Given the description of an element on the screen output the (x, y) to click on. 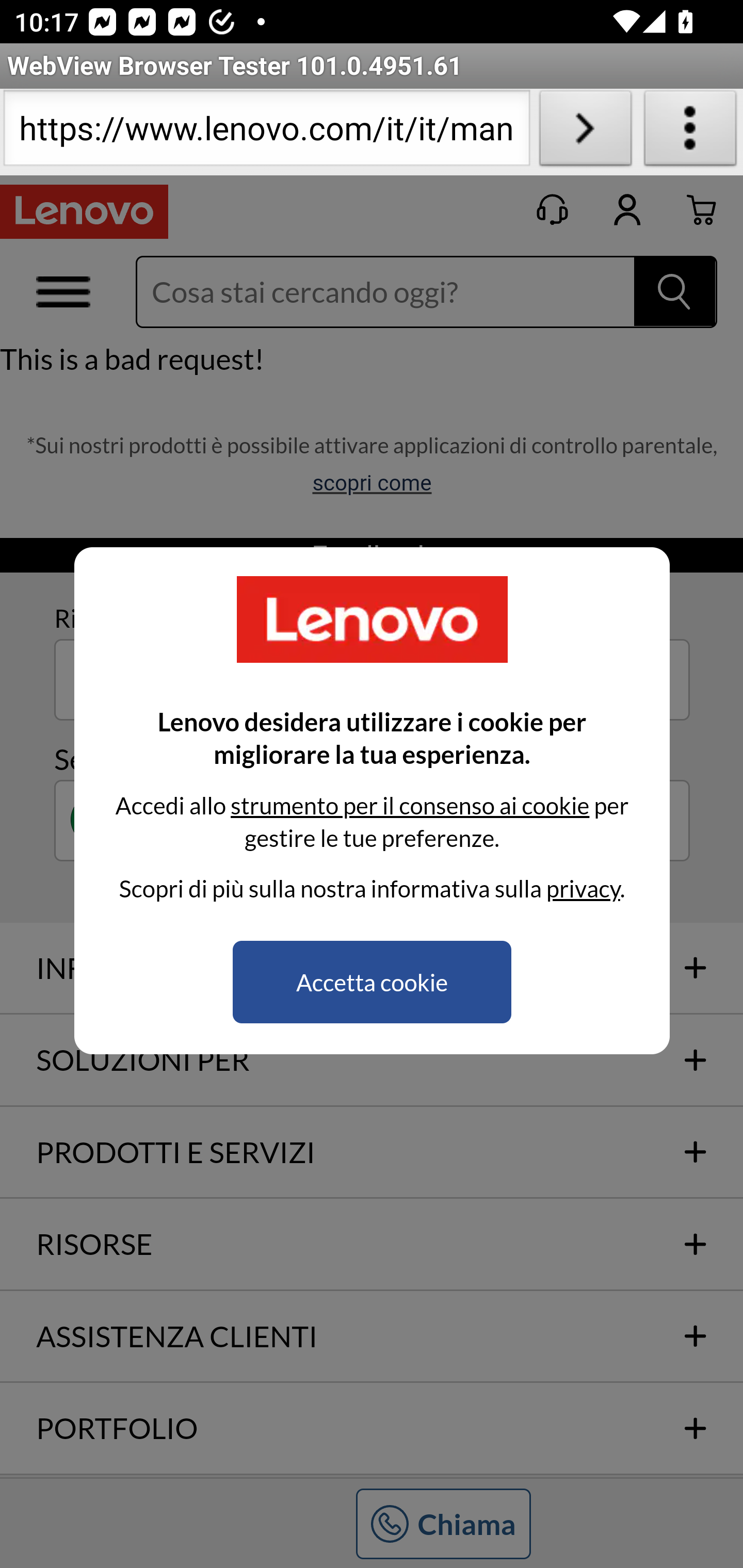
https://www.lenovo.com/it/it/manchester%20city (266, 132)
Load URL (585, 132)
About WebView (690, 132)
strumento per il consenso ai cookie (408, 805)
privacy (583, 888)
Accetta cookie (371, 981)
